Given the description of an element on the screen output the (x, y) to click on. 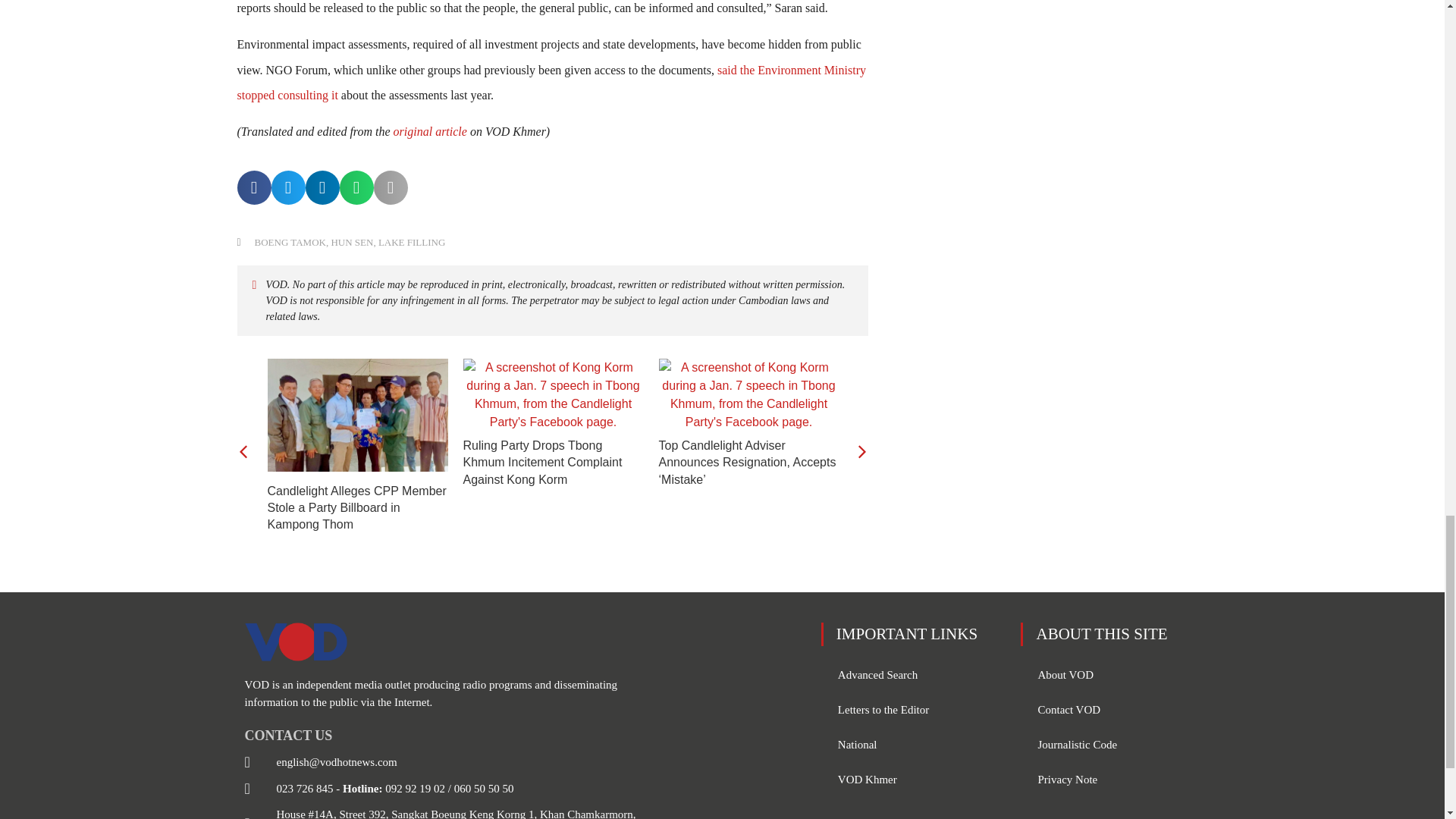
said the Environment Ministry stopped consulting it (549, 82)
HUN SEN (351, 242)
BOENG TAMOK (290, 242)
LAKE FILLING (411, 242)
Screen Shot 2023-01-11 at 7.20.34 PM 1 (748, 394)
Screen Shot 2023-01-11 at 7.20.34 PM 1 (553, 394)
original article (430, 131)
